Given the description of an element on the screen output the (x, y) to click on. 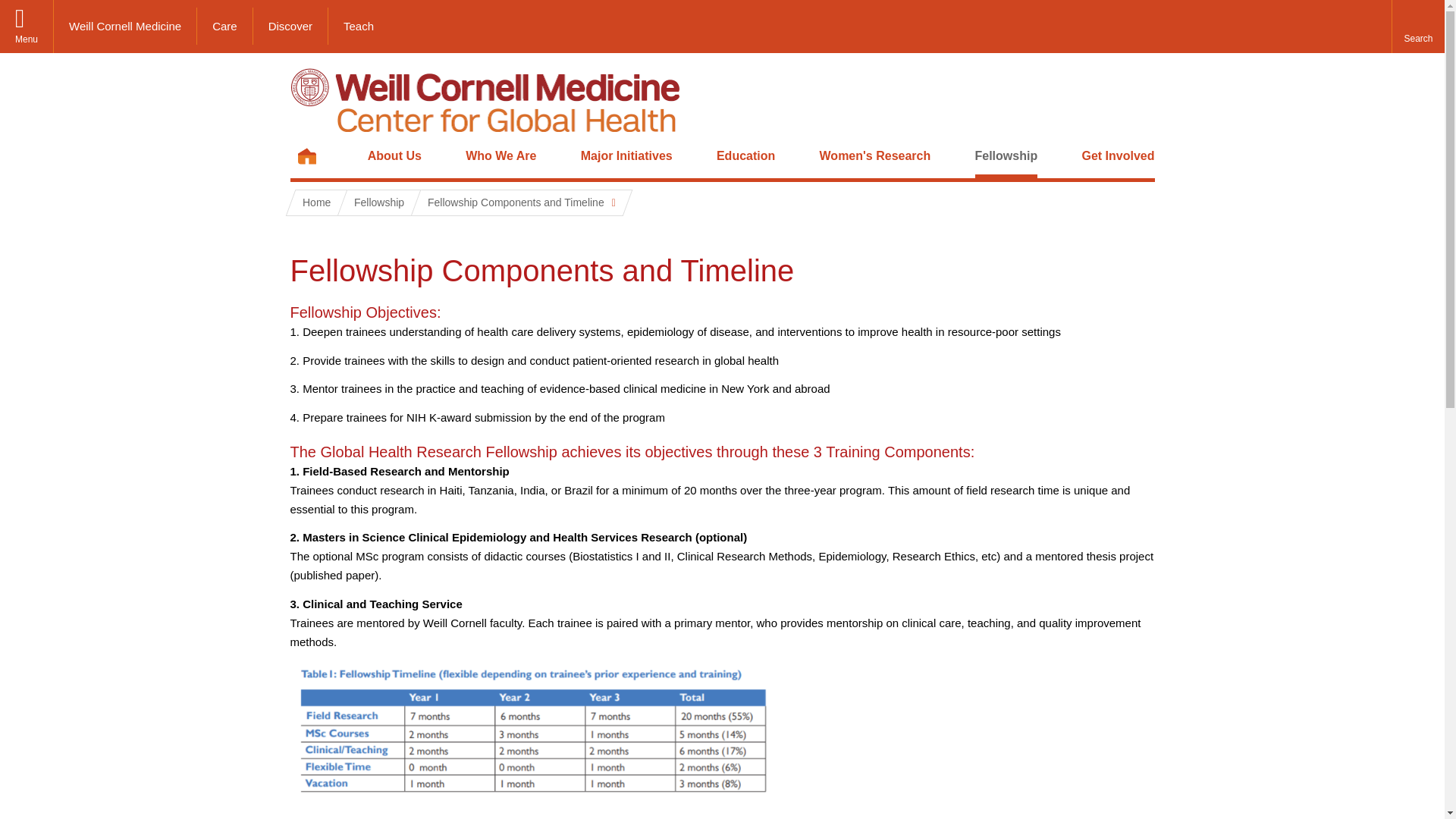
Teach (358, 26)
Weill Cornell Medicine (124, 26)
Discover (291, 26)
Care (224, 26)
